Given the description of an element on the screen output the (x, y) to click on. 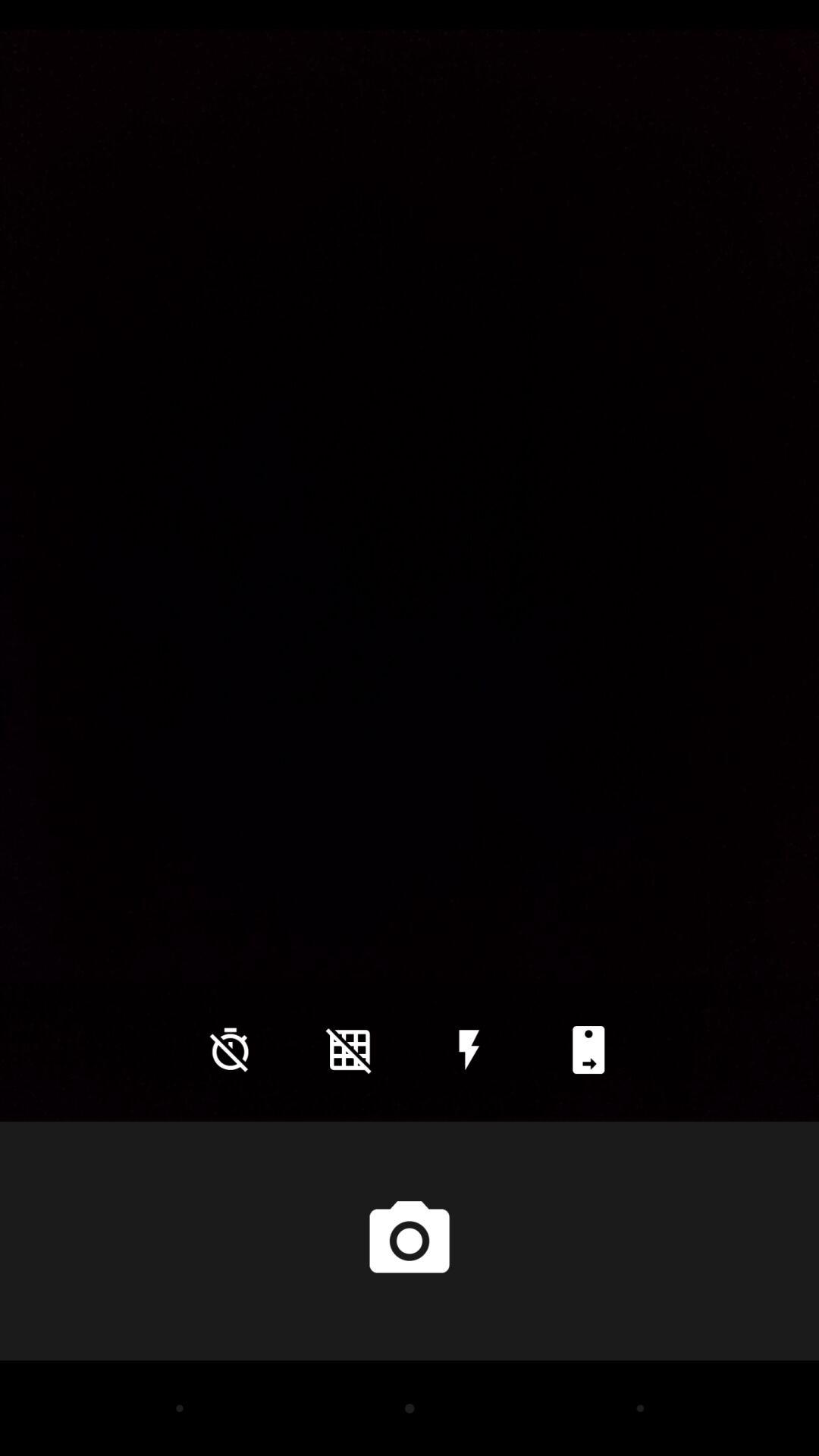
open item at the bottom right corner (588, 1049)
